Given the description of an element on the screen output the (x, y) to click on. 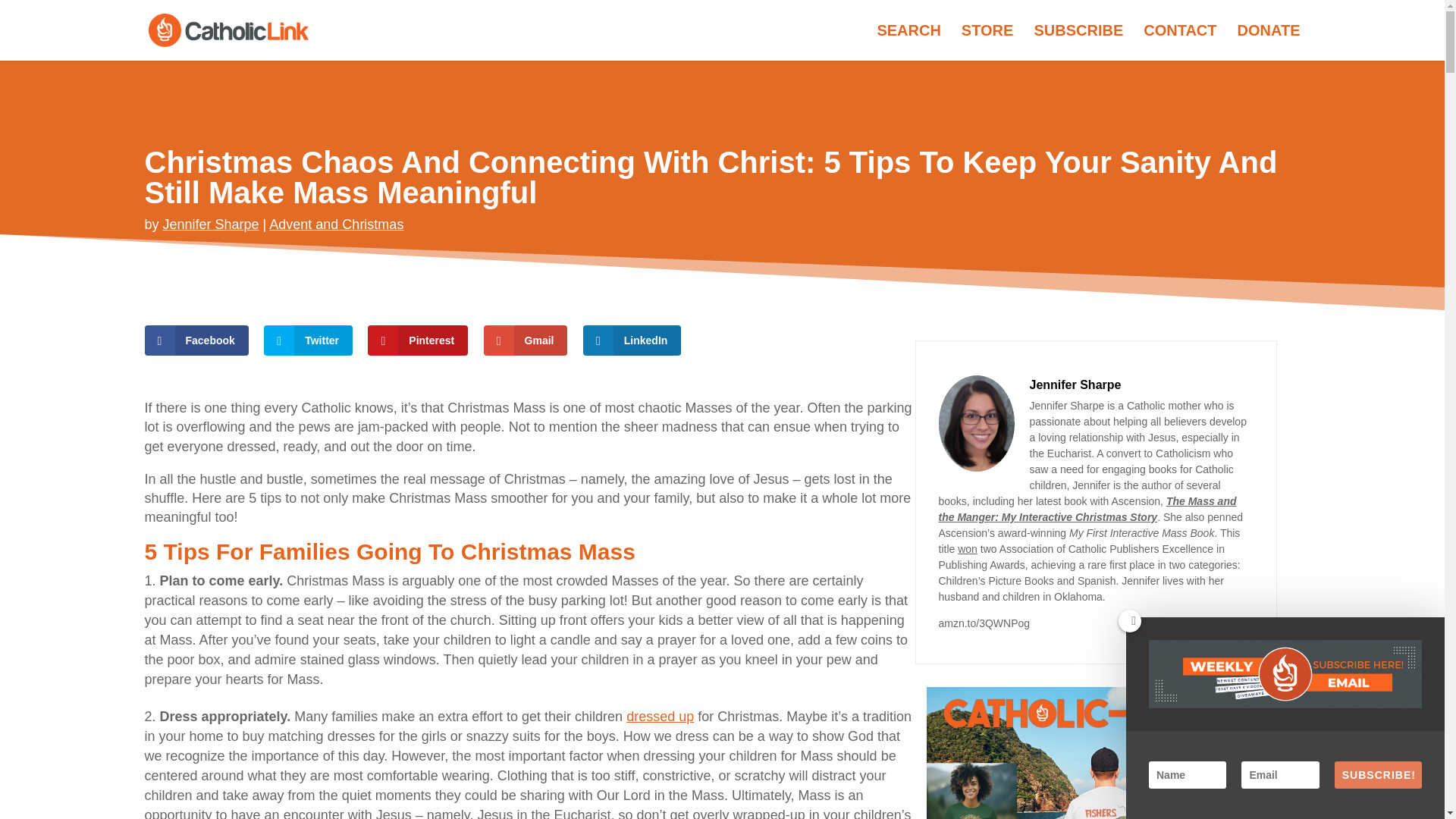
SEARCH (908, 42)
SUBSCRIBE (1077, 42)
STORE (986, 42)
Pinterest (417, 340)
Twitter (307, 340)
Facebook (195, 340)
Advent and Christmas (336, 224)
DONATE (1268, 42)
dressed up (660, 716)
CONTACT (1178, 42)
Jennifer Sharpe (211, 224)
Posts by Jennifer Sharpe (211, 224)
LinkedIn (632, 340)
Gmail (525, 340)
